Given the description of an element on the screen output the (x, y) to click on. 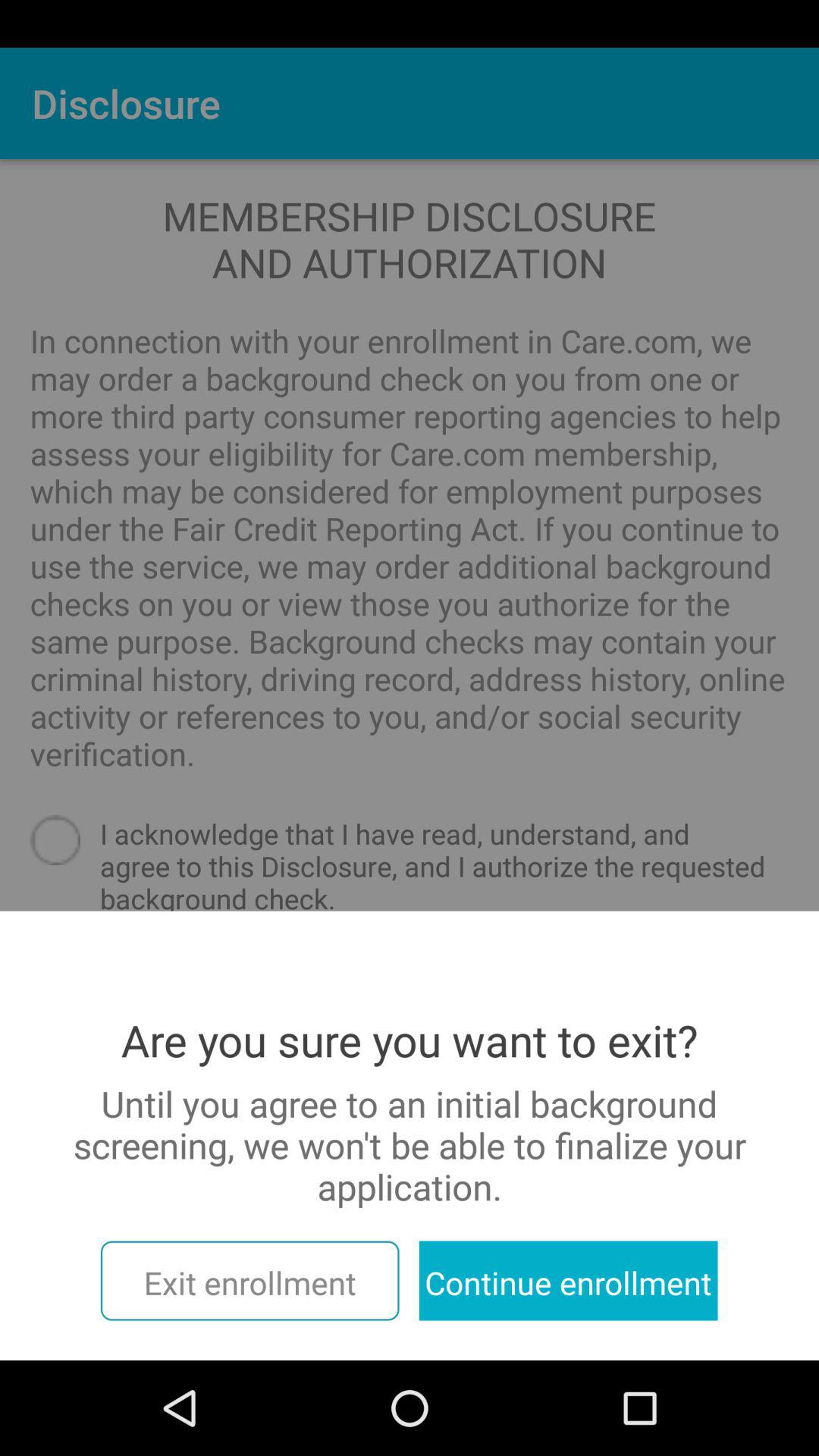
press the continue enrollment icon (568, 1280)
